Given the description of an element on the screen output the (x, y) to click on. 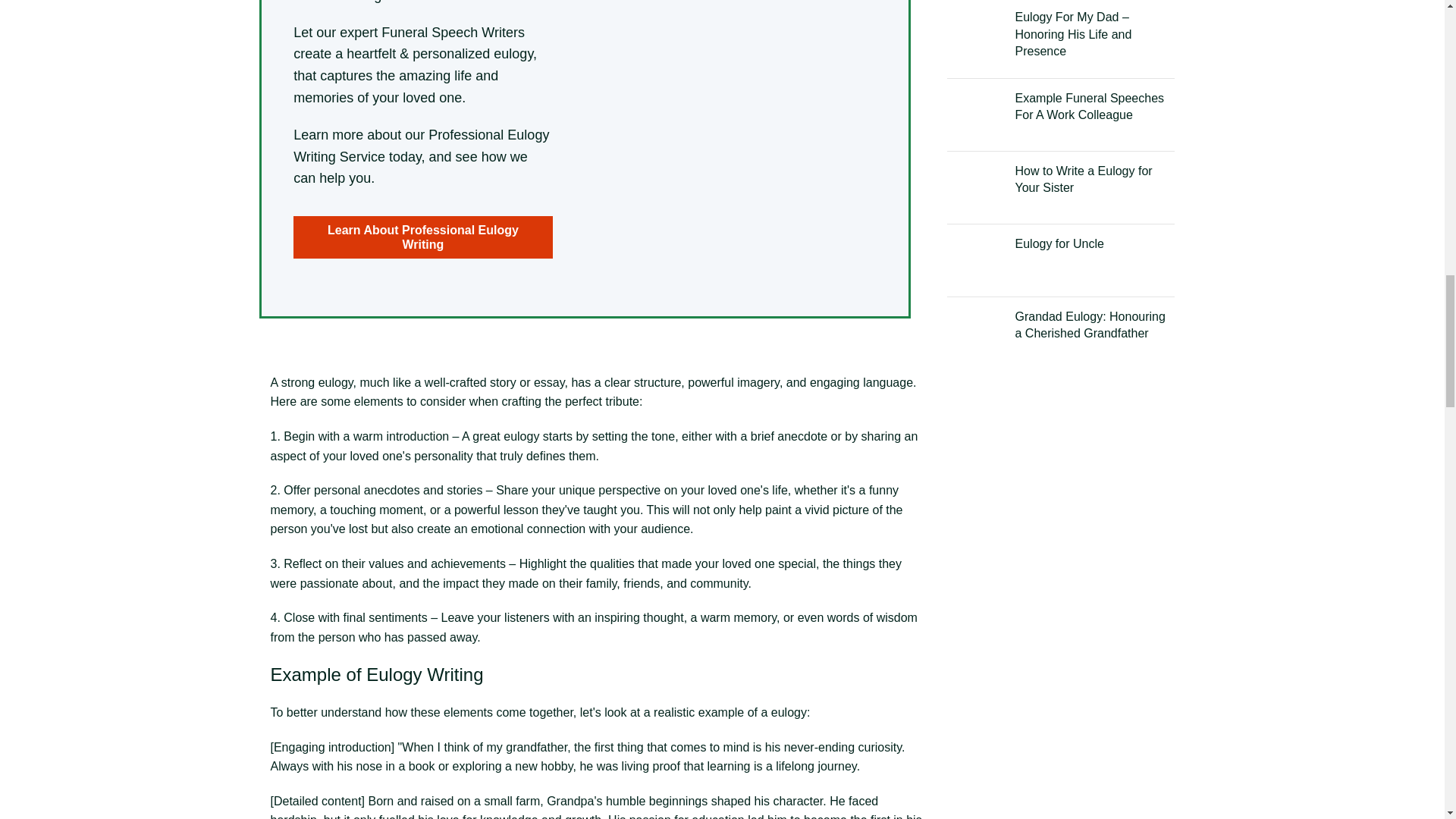
Learn About Professional Eulogy Writing (423, 237)
